Given the description of an element on the screen output the (x, y) to click on. 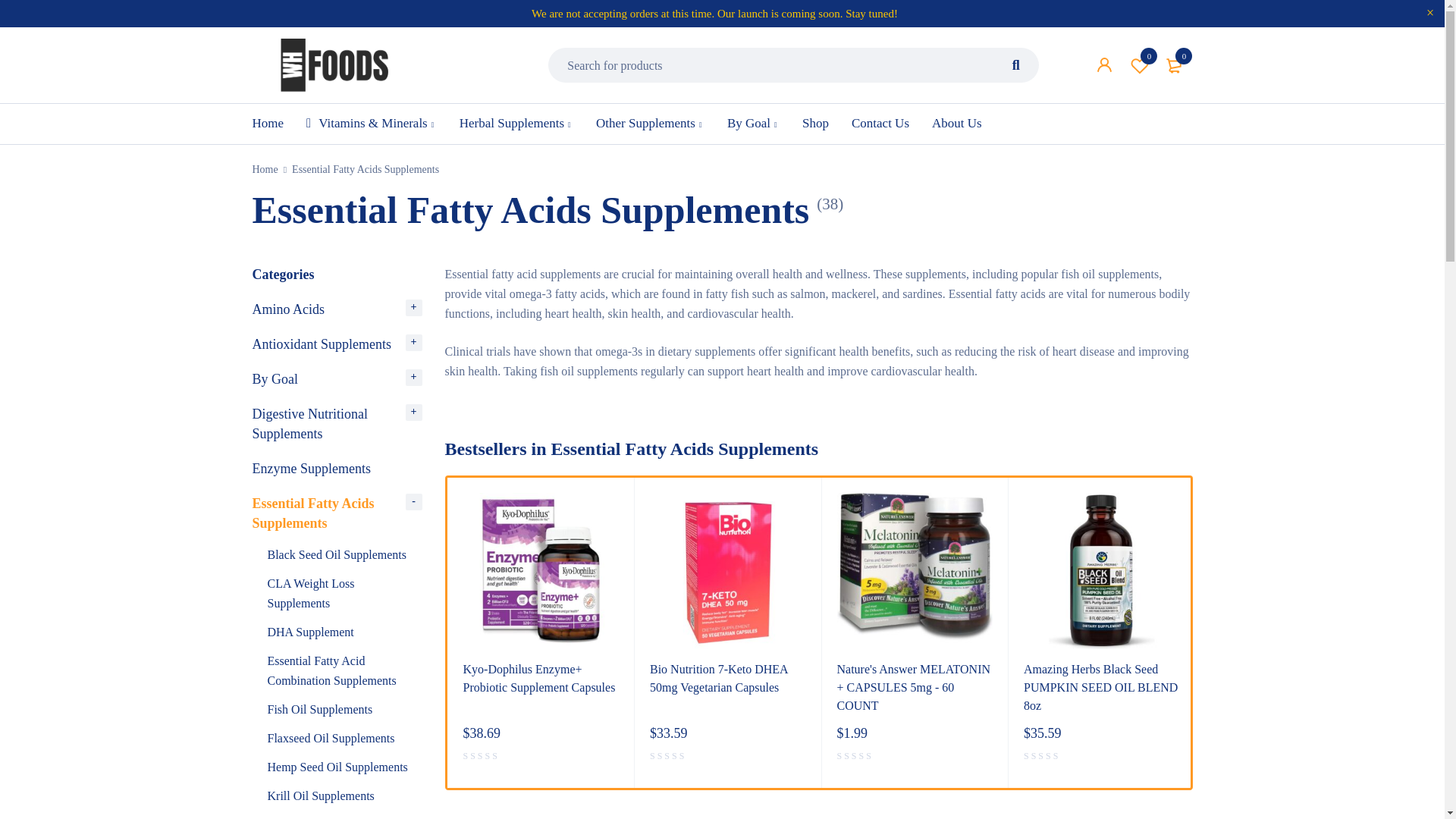
View your shopping cart (1174, 64)
Search (1015, 64)
Wishlist (1139, 64)
WHFoods (332, 64)
